Given the description of an element on the screen output the (x, y) to click on. 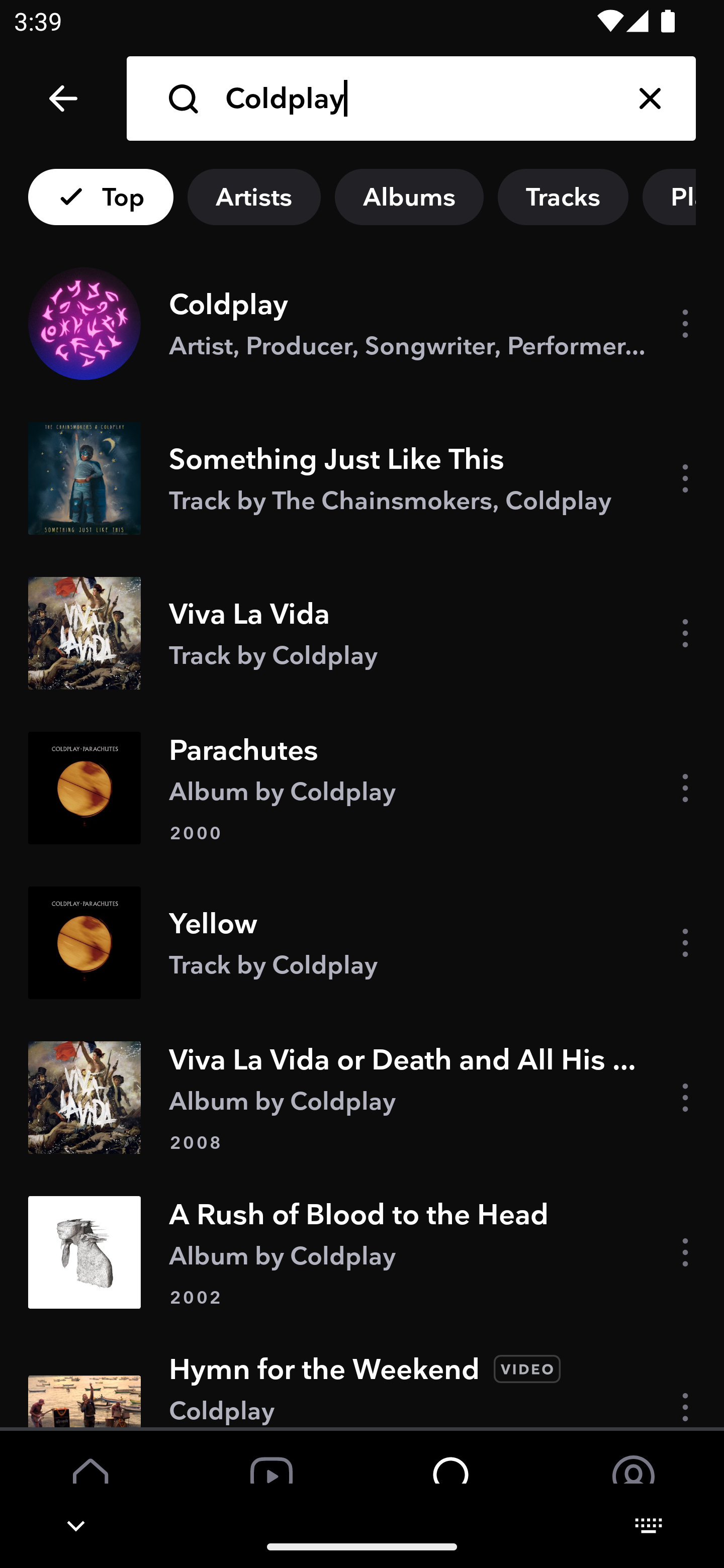
Clear query (650, 98)
Coldplay (414, 98)
Top (100, 197)
Artists (253, 197)
Albums (408, 197)
Tracks (563, 197)
Playlists (683, 197)
Viva La Vida Track by Coldplay (362, 632)
Parachutes Album by Coldplay 2000 (362, 787)
Yellow Track by Coldplay (362, 942)
A Rush of Blood to the Head Album by Coldplay 2002 (362, 1251)
Hymn for the Weekend Coldplay (362, 1377)
